Given the description of an element on the screen output the (x, y) to click on. 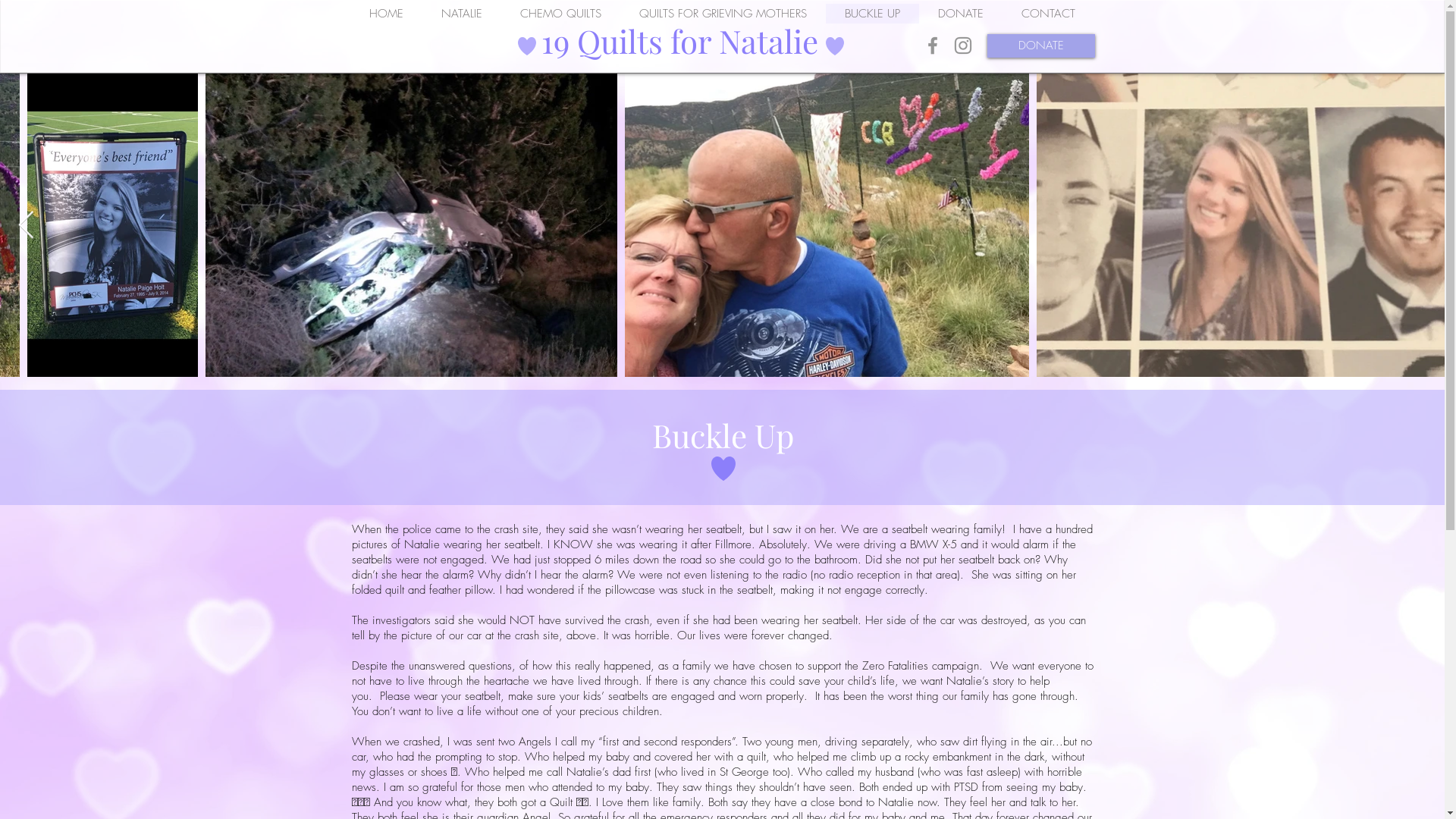
CHEMO QUILTS Element type: text (559, 13)
19 Quilts for Natalie Element type: text (679, 40)
DONATE Element type: text (960, 13)
QUILTS FOR GRIEVING MOTHERS Element type: text (722, 13)
NATALIE Element type: text (460, 13)
CONTACT Element type: text (1048, 13)
DONATE Element type: text (1041, 45)
HOME Element type: text (385, 13)
BUCKLE UP Element type: text (871, 13)
